Given the description of an element on the screen output the (x, y) to click on. 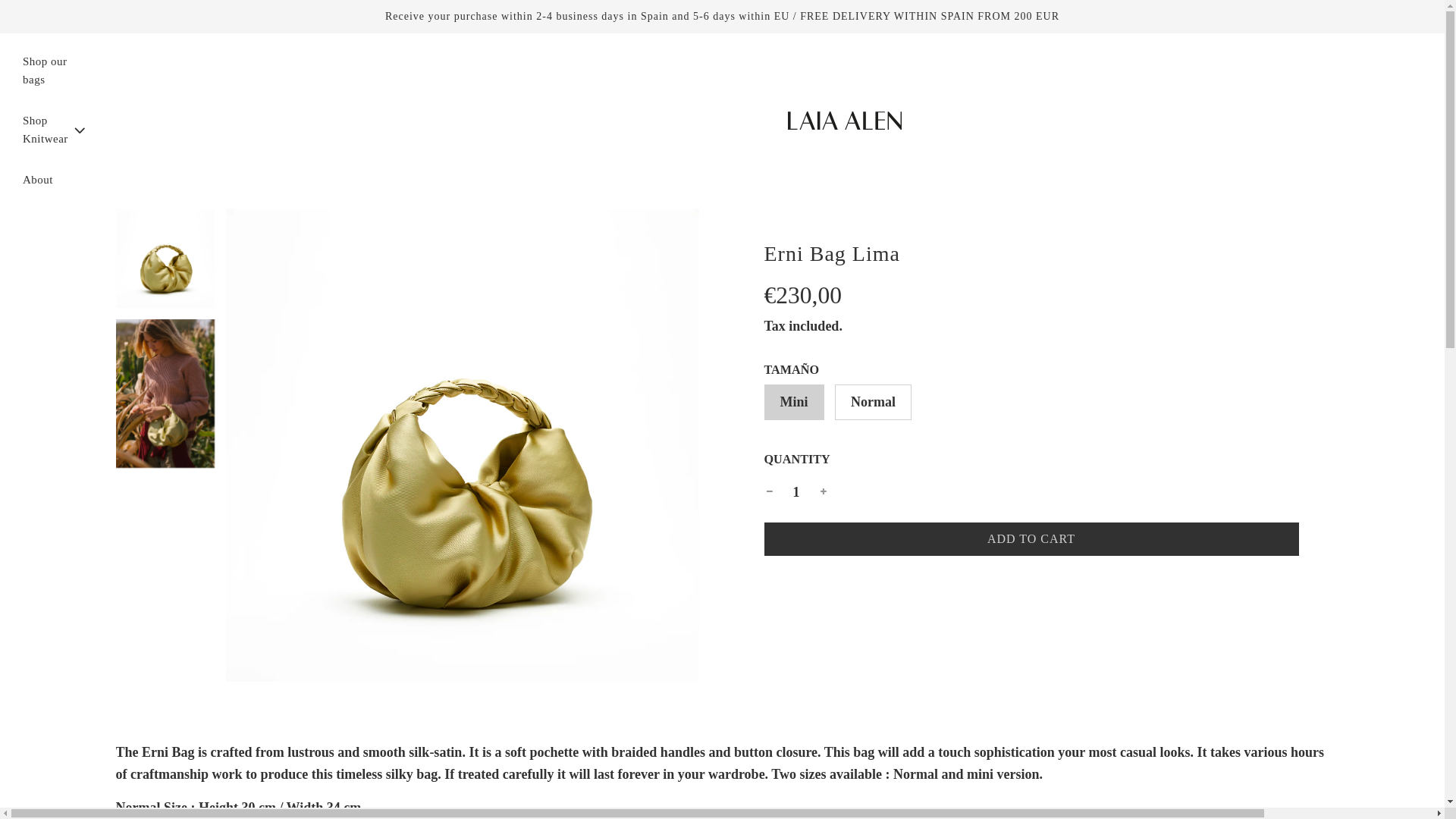
1 (796, 491)
Shop Knitwear (55, 128)
About (1031, 539)
Shop our bags (37, 178)
